Given the description of an element on the screen output the (x, y) to click on. 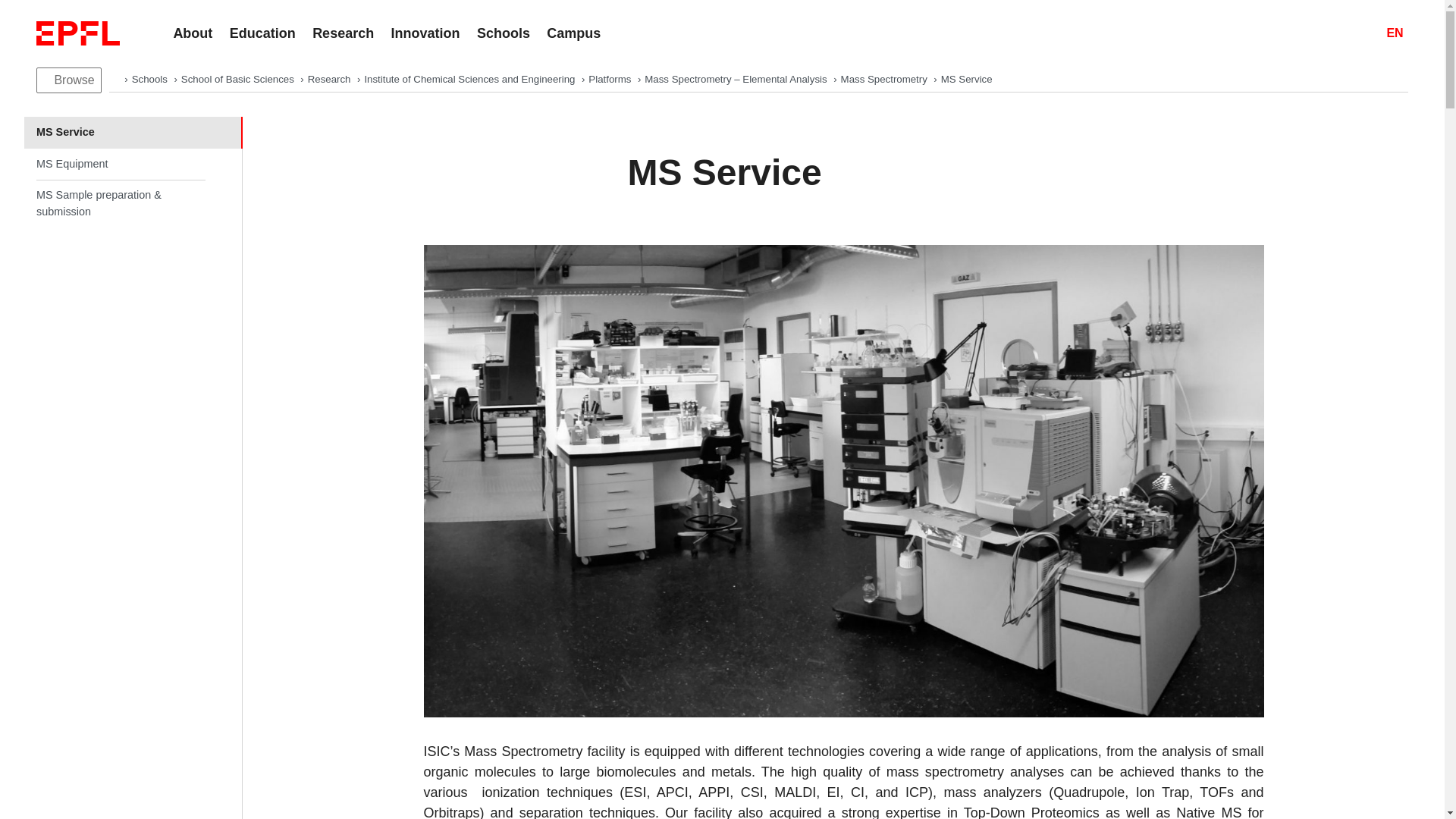
Platforms (610, 79)
Schools (503, 33)
Browse (68, 80)
Institute of Chemical Sciences and Engineering (471, 79)
Mass Spectrometry (885, 79)
Education (262, 33)
Research (330, 79)
Innovation (424, 33)
School of Basic Sciences (238, 79)
Research (330, 79)
Campus (573, 33)
Schools (151, 79)
Research (342, 33)
School of Basic Sciences (238, 79)
Institute of Chemical Sciences and Engineering (471, 79)
